Given the description of an element on the screen output the (x, y) to click on. 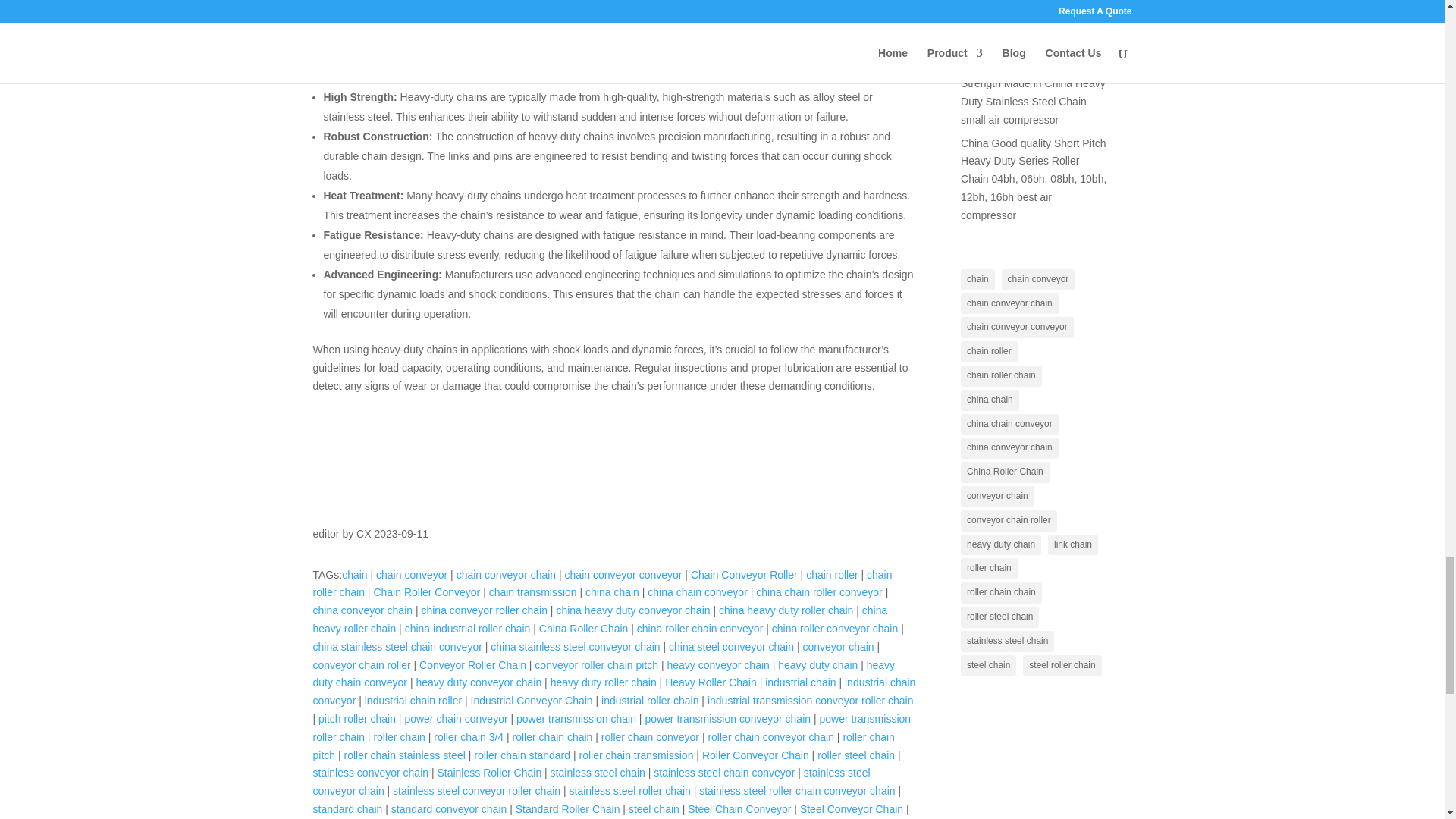
china roller conveyor chain (834, 628)
Chain Roller Conveyor (426, 592)
chain conveyor chain (506, 574)
China Roller Chain (583, 628)
conveyor chain roller (361, 664)
Conveyor Roller Chain (472, 664)
china chain conveyor (697, 592)
china roller chain conveyor (699, 628)
china heavy duty roller chain (786, 610)
Chain Conveyor Roller (743, 574)
